Given the description of an element on the screen output the (x, y) to click on. 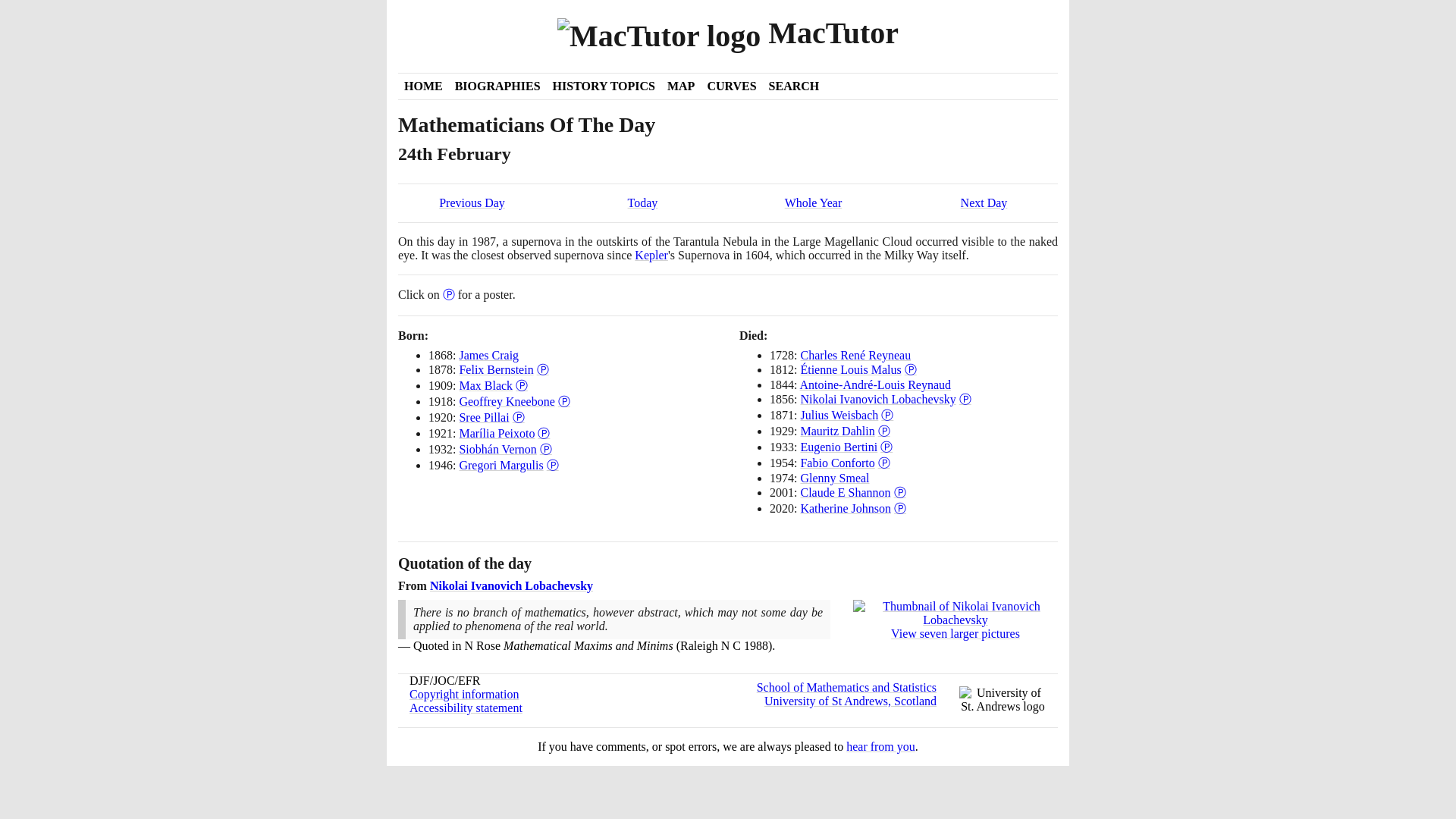
Nikolai Ivanovich Lobachevsky (877, 399)
Eugenio Bertini (838, 446)
HOME (422, 86)
HISTORY TOPICS (604, 86)
CURVES (730, 86)
Mauritz Dahlin (837, 431)
SEARCH (793, 86)
Kepler (651, 254)
MAP (680, 86)
Today (642, 202)
